Given the description of an element on the screen output the (x, y) to click on. 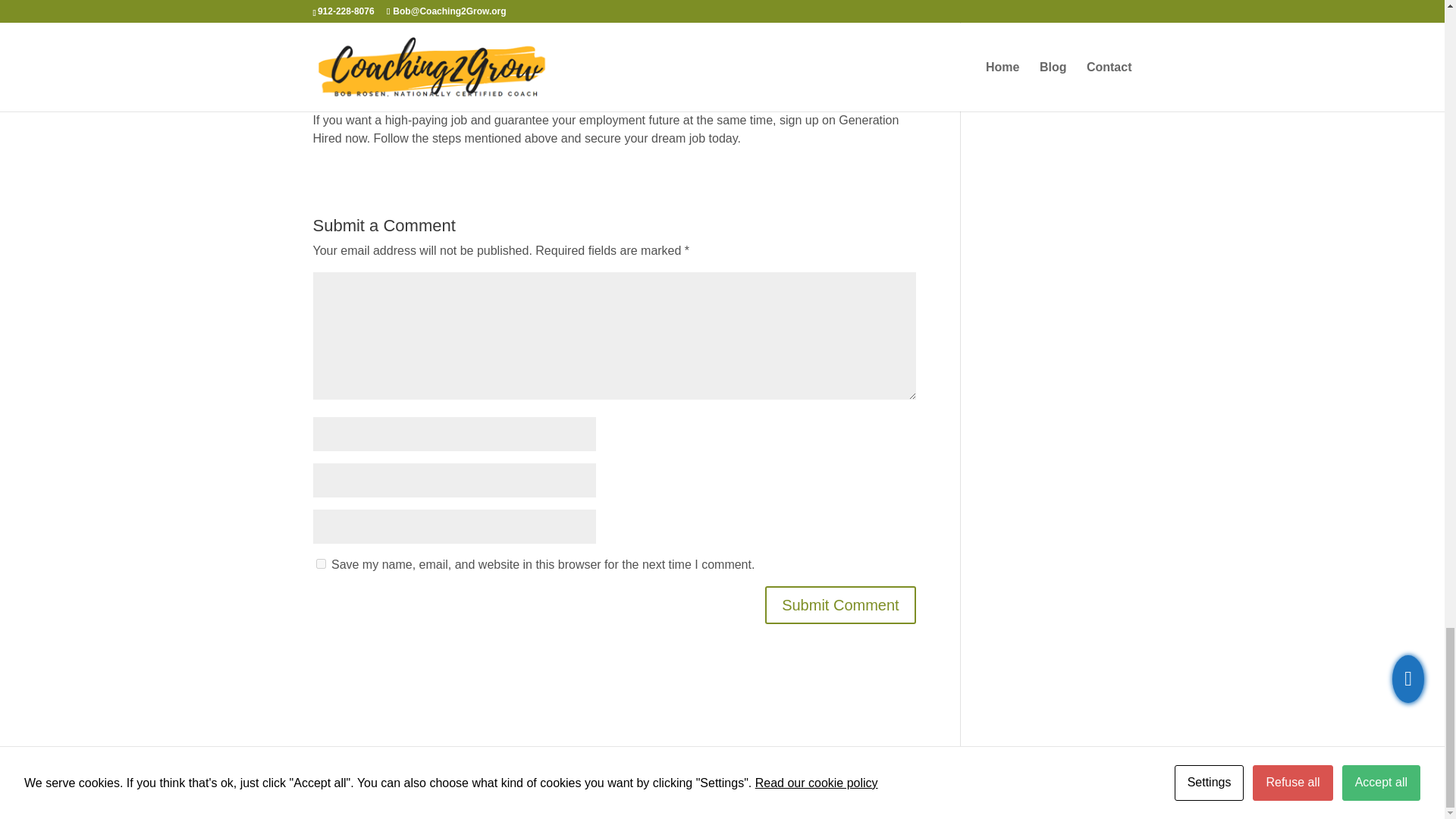
Submit Comment (840, 605)
Follow on Pinterest (1118, 788)
yes (319, 563)
Discuss your salary expectations (458, 47)
Follow on LinkedIn (1028, 788)
Follow on X (1088, 788)
Follow on Facebook (1058, 788)
Submit Comment (840, 605)
Privacy Policy (541, 784)
